Given the description of an element on the screen output the (x, y) to click on. 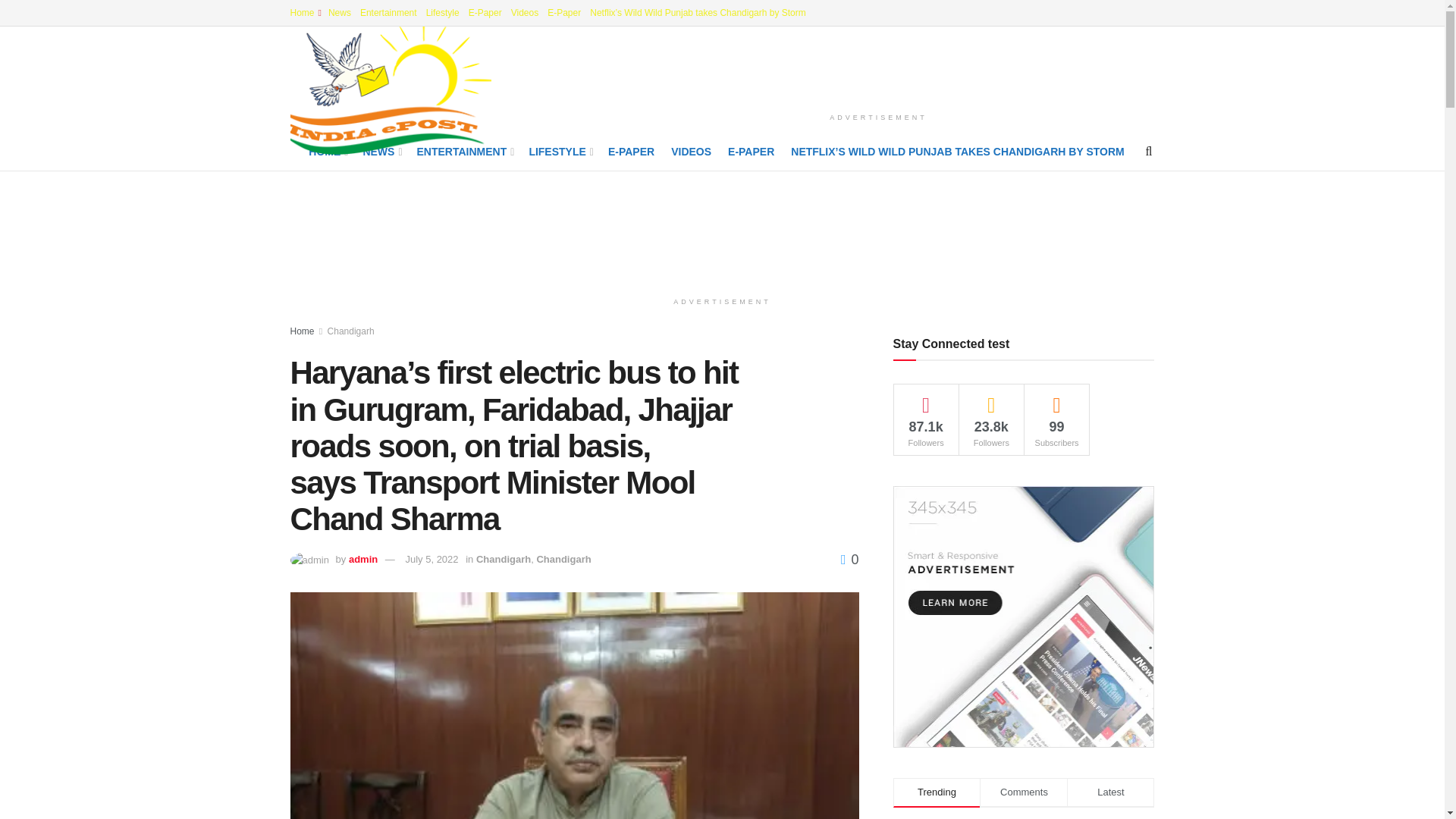
E-Paper (485, 12)
Lifestyle (443, 12)
Entertainment (387, 12)
Advertisement (878, 66)
Home (303, 12)
Videos (524, 12)
NEWS (380, 151)
Advertisement (722, 228)
E-Paper (563, 12)
News (339, 12)
HOME (327, 151)
